Given the description of an element on the screen output the (x, y) to click on. 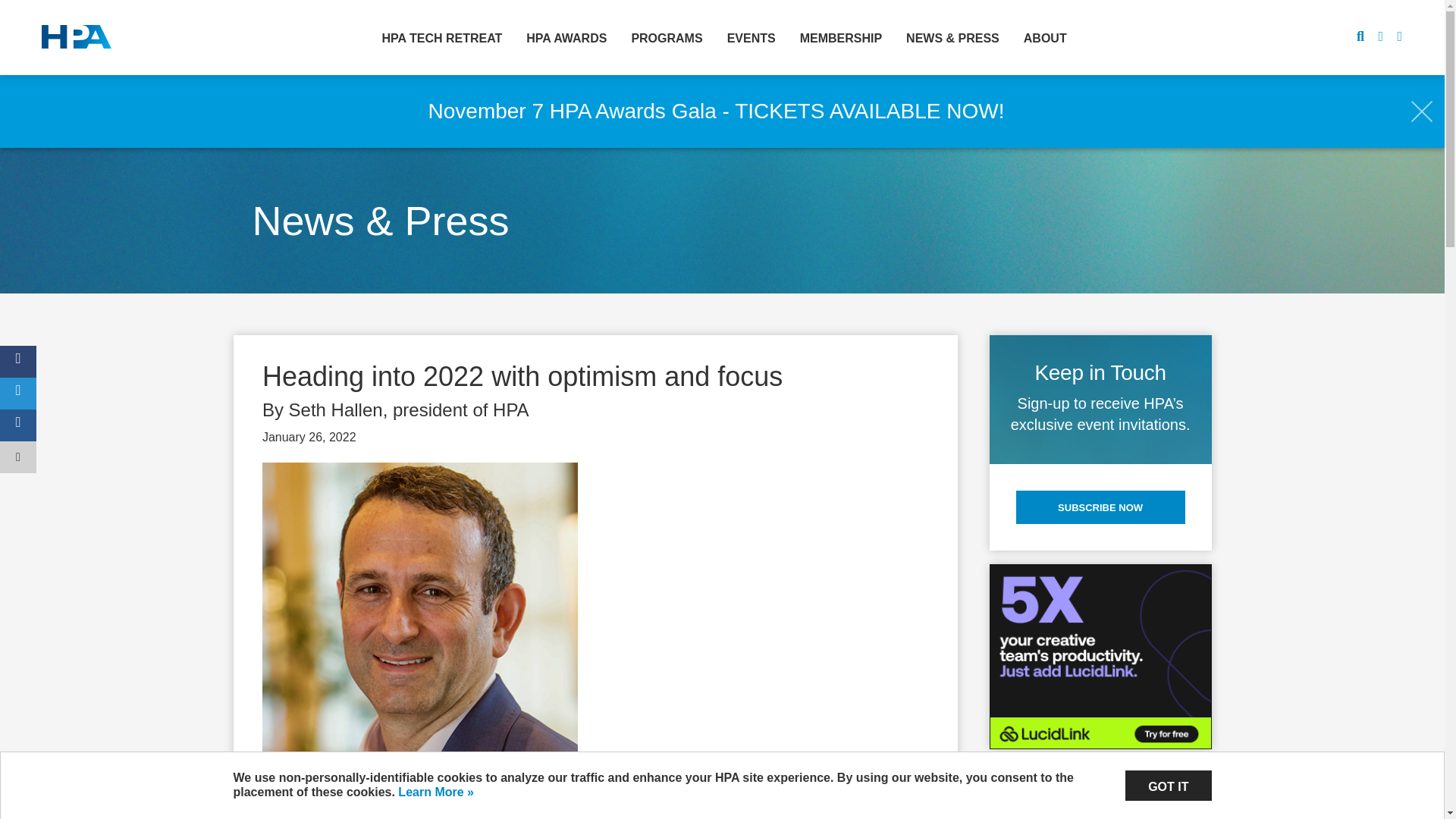
HPA AWARDS (565, 36)
PROGRAMS (666, 36)
HPA TECH RETREAT (442, 36)
EVENTS (750, 36)
